Given the description of an element on the screen output the (x, y) to click on. 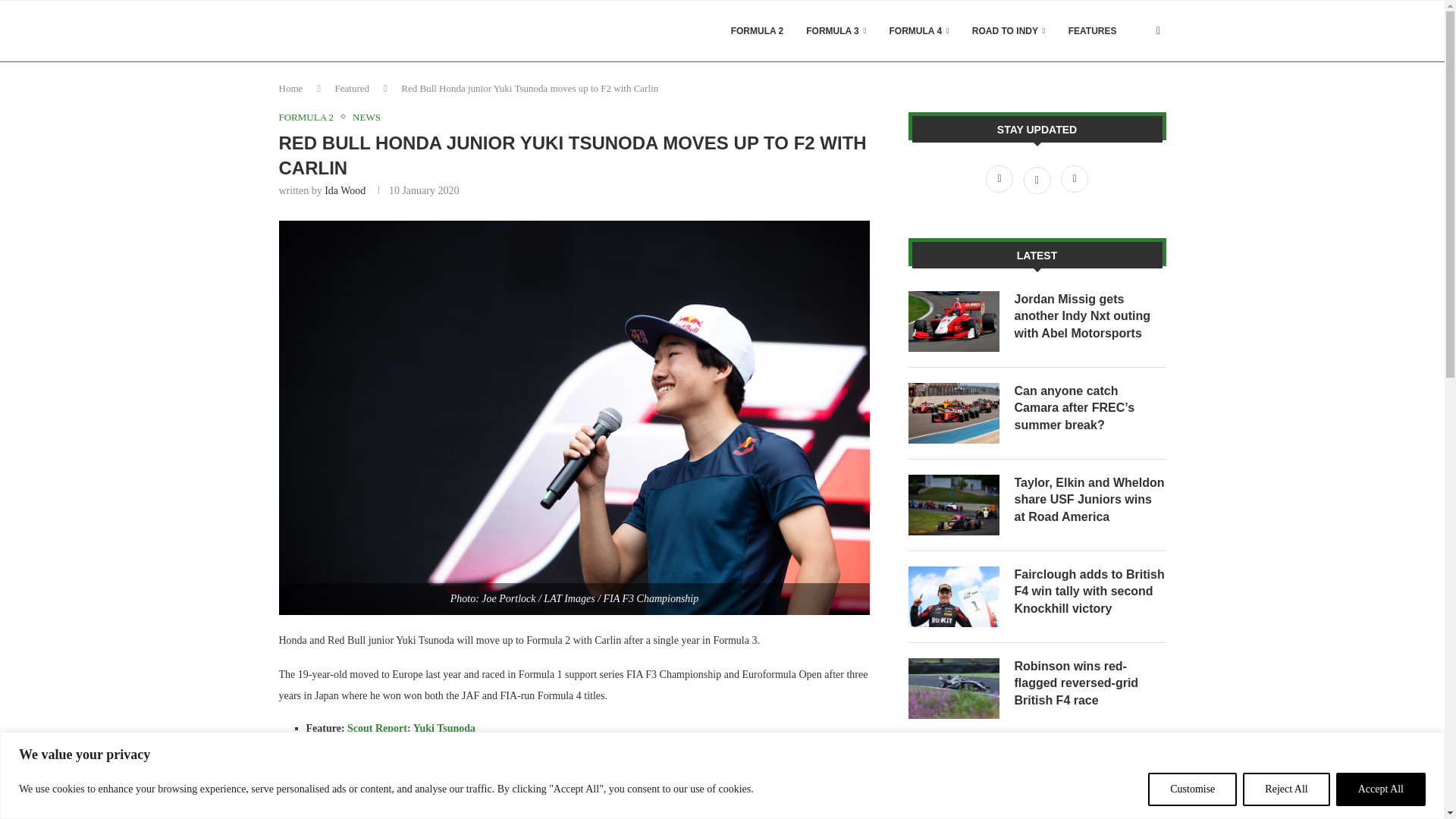
Robinson wins red-flagged reversed-grid British F4 race (1090, 683)
Accept All (1380, 788)
Customise (1192, 788)
NEWS (366, 117)
Featured (351, 88)
Ida Wood (344, 190)
Home (290, 88)
